Given the description of an element on the screen output the (x, y) to click on. 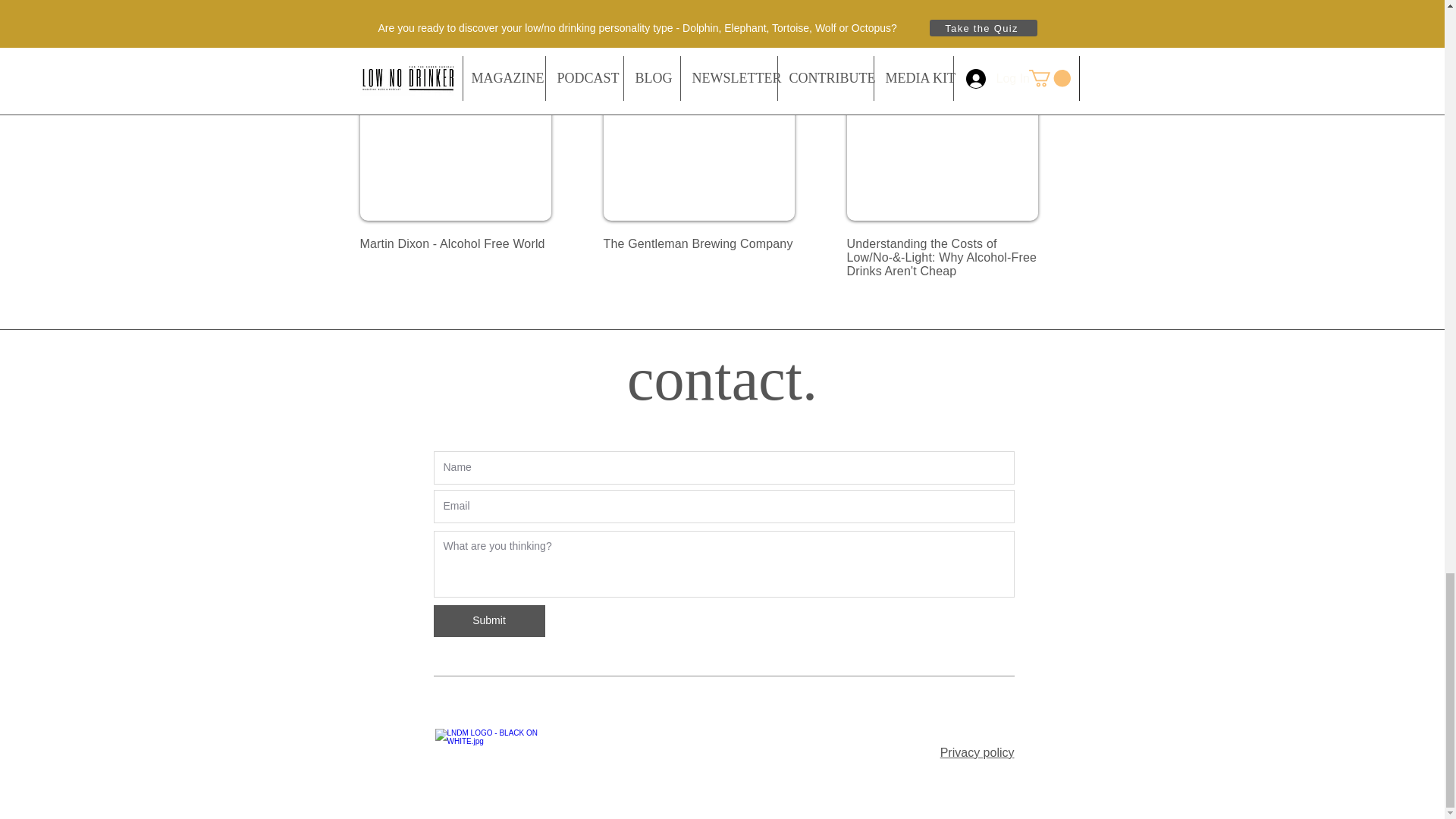
EXPENSIVE THUMBNAIL SQUARE.png (940, 128)
LNDM THUMBNAIL SQUARE - TGBCO.png (699, 128)
LNDM THUMBNAIL SQUARE - martin dixon.png (454, 128)
